Given the description of an element on the screen output the (x, y) to click on. 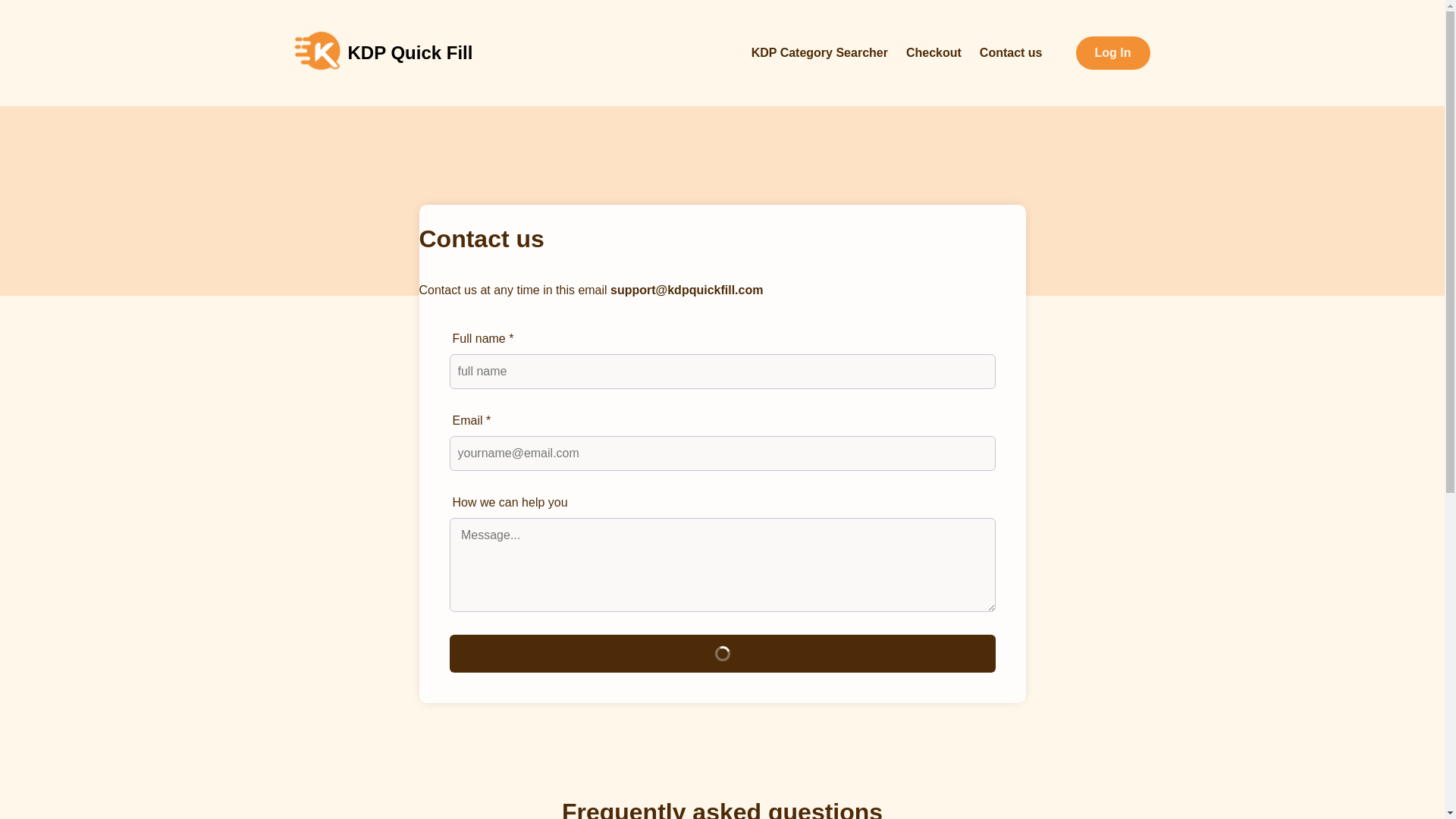
KDP Category Searcher (819, 51)
Checkout (932, 51)
Contact us (1010, 51)
Log In (1112, 52)
Submit (721, 653)
